Given the description of an element on the screen output the (x, y) to click on. 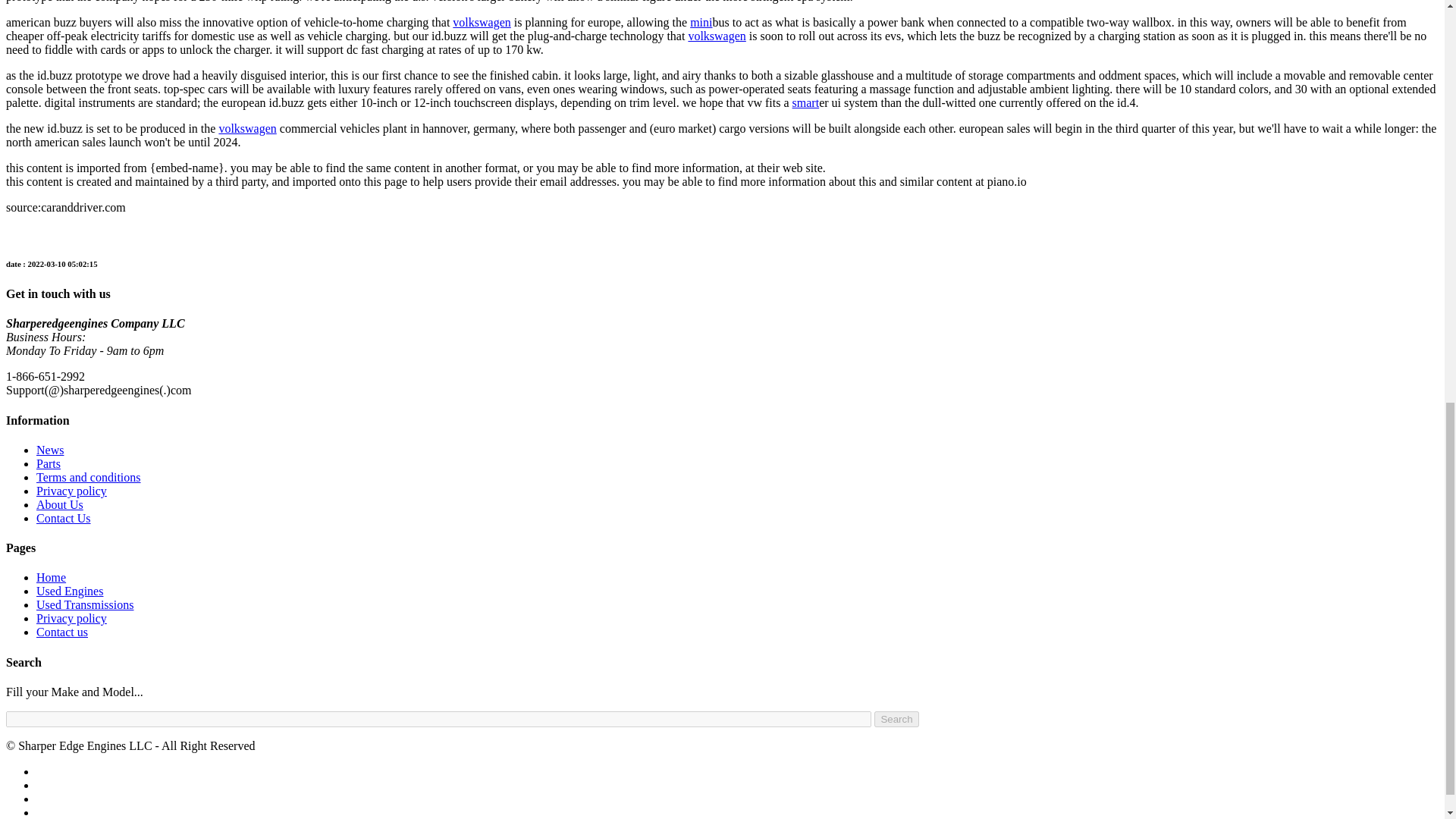
smart (805, 102)
Contact Us (63, 517)
mini (700, 21)
Used Engines (69, 590)
Contact Us (61, 631)
Privacy policy (71, 490)
About Us (59, 504)
Used Transmissions (84, 604)
Terms and conditions (88, 477)
Car Used Parts (48, 463)
